Given the description of an element on the screen output the (x, y) to click on. 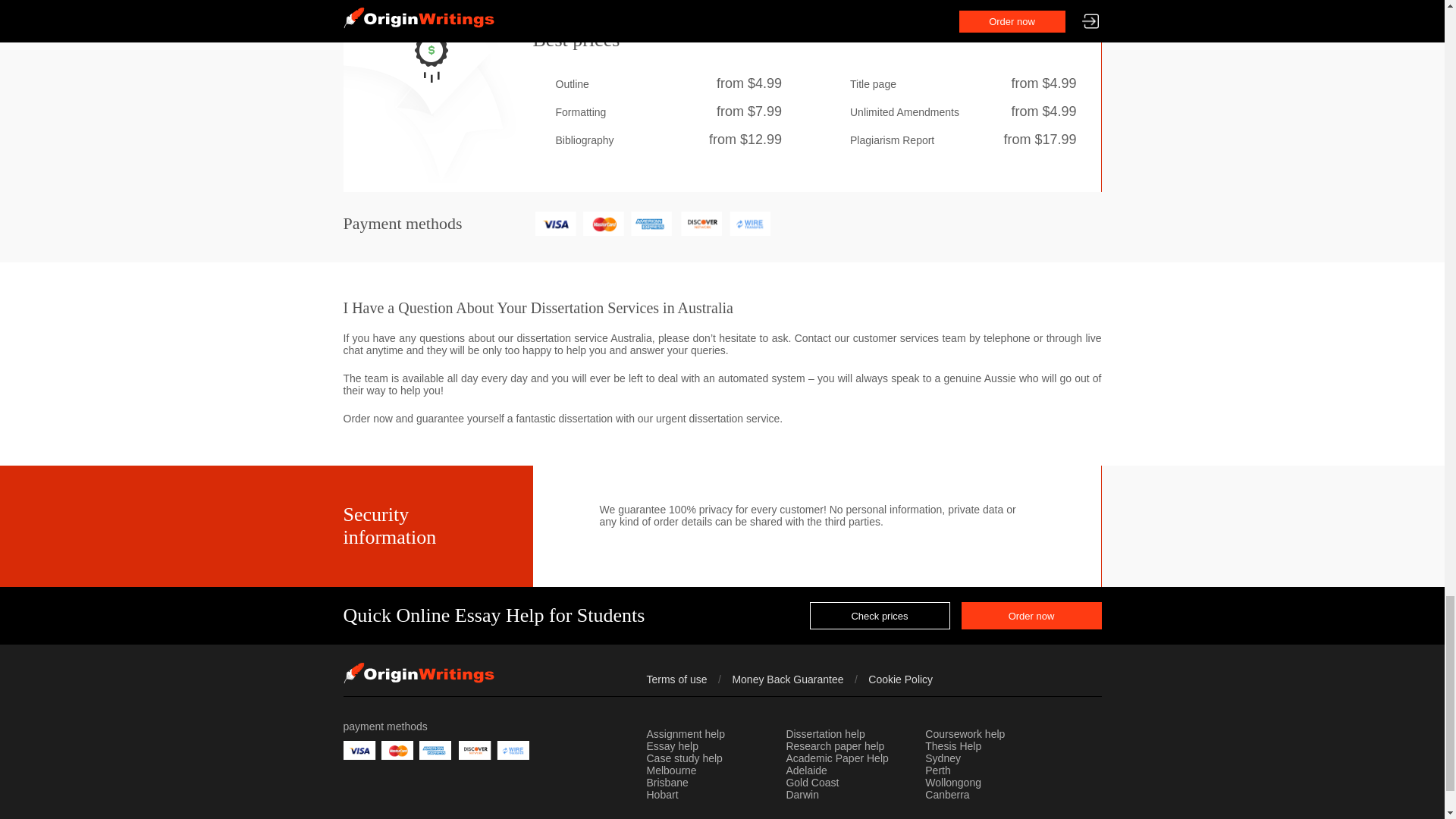
Academic Paper Help (837, 758)
Assignment help (685, 735)
Research paper help (834, 746)
Check prices (879, 615)
Case study help (684, 758)
Order now (1031, 615)
Money Back Guarantee (787, 679)
Essay help (671, 746)
Coursework help (964, 735)
Thesis Help (952, 746)
Cookie Policy (900, 679)
Terms of use (676, 679)
Dissertation help (825, 735)
